Given the description of an element on the screen output the (x, y) to click on. 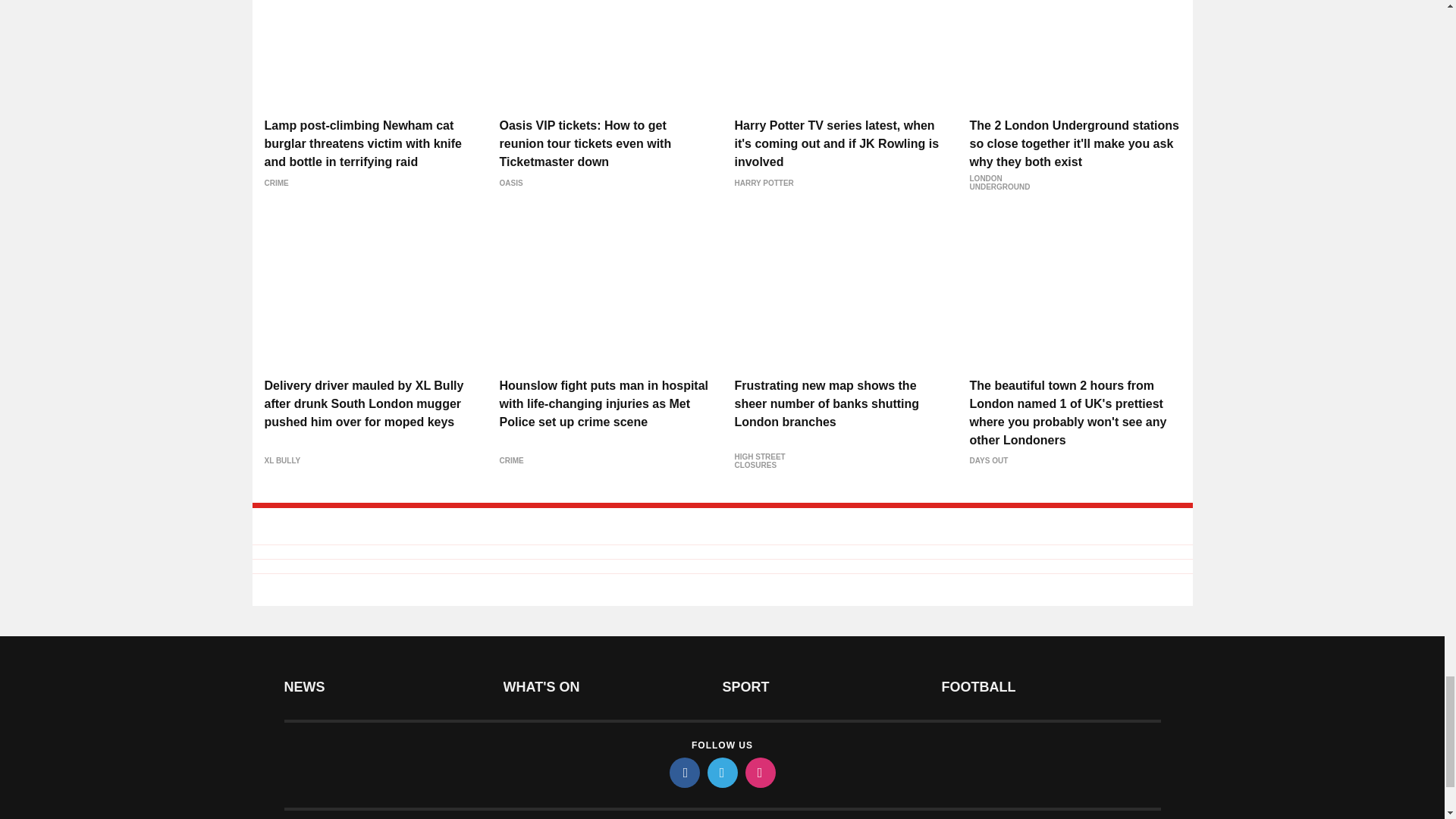
facebook (683, 772)
instagram (759, 772)
twitter (721, 772)
